Given the description of an element on the screen output the (x, y) to click on. 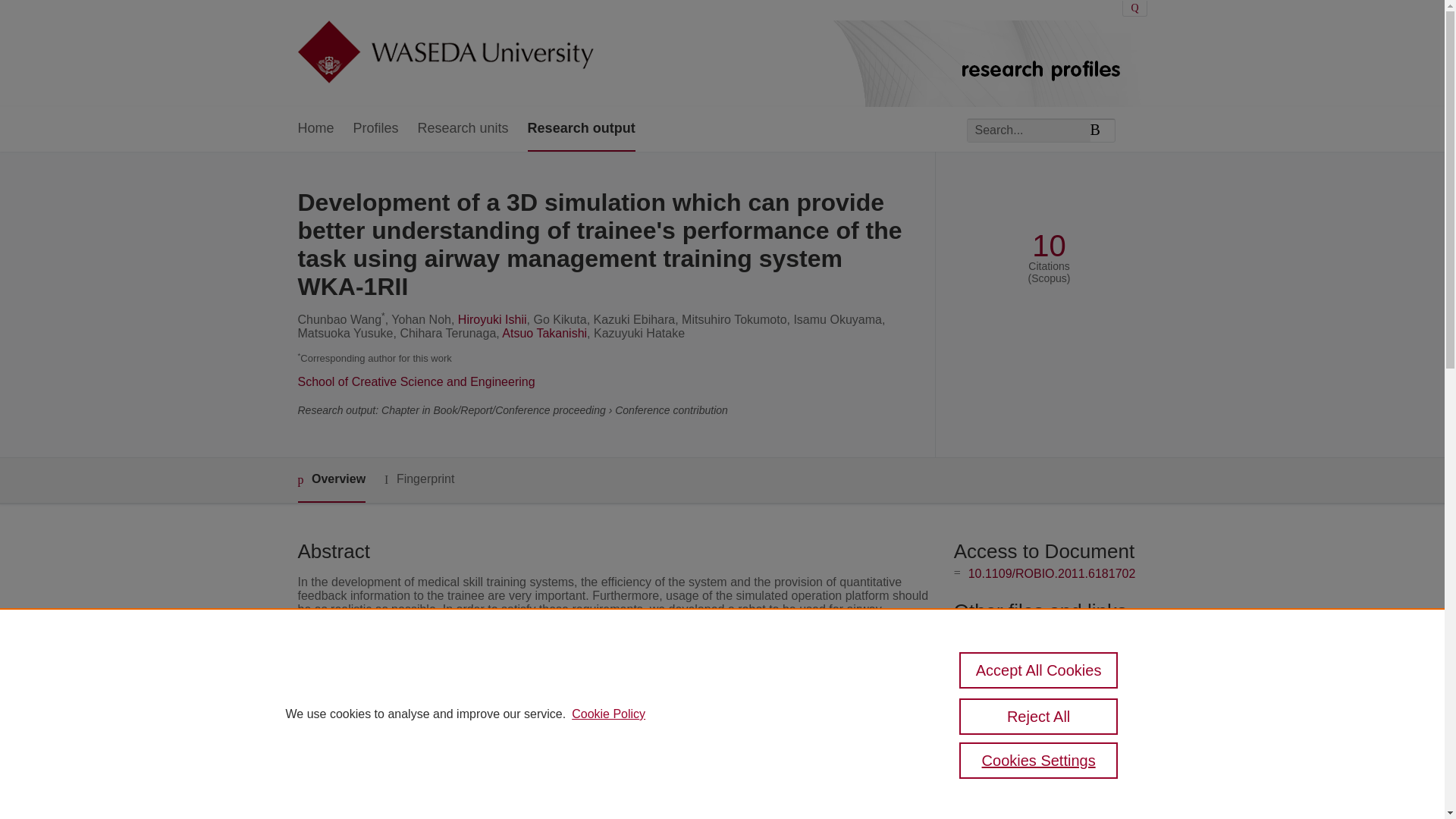
Research units (462, 129)
10 (1048, 245)
Hiroyuki Ishii (492, 318)
School of Creative Science and Engineering (415, 381)
Overview (331, 479)
Atsuo Takanishi (544, 332)
Link to publication in Scopus (1045, 633)
Profiles (375, 129)
Fingerprint (419, 479)
Waseda University Home (444, 53)
Link to the citations in Scopus (1048, 658)
Research output (580, 129)
